Given the description of an element on the screen output the (x, y) to click on. 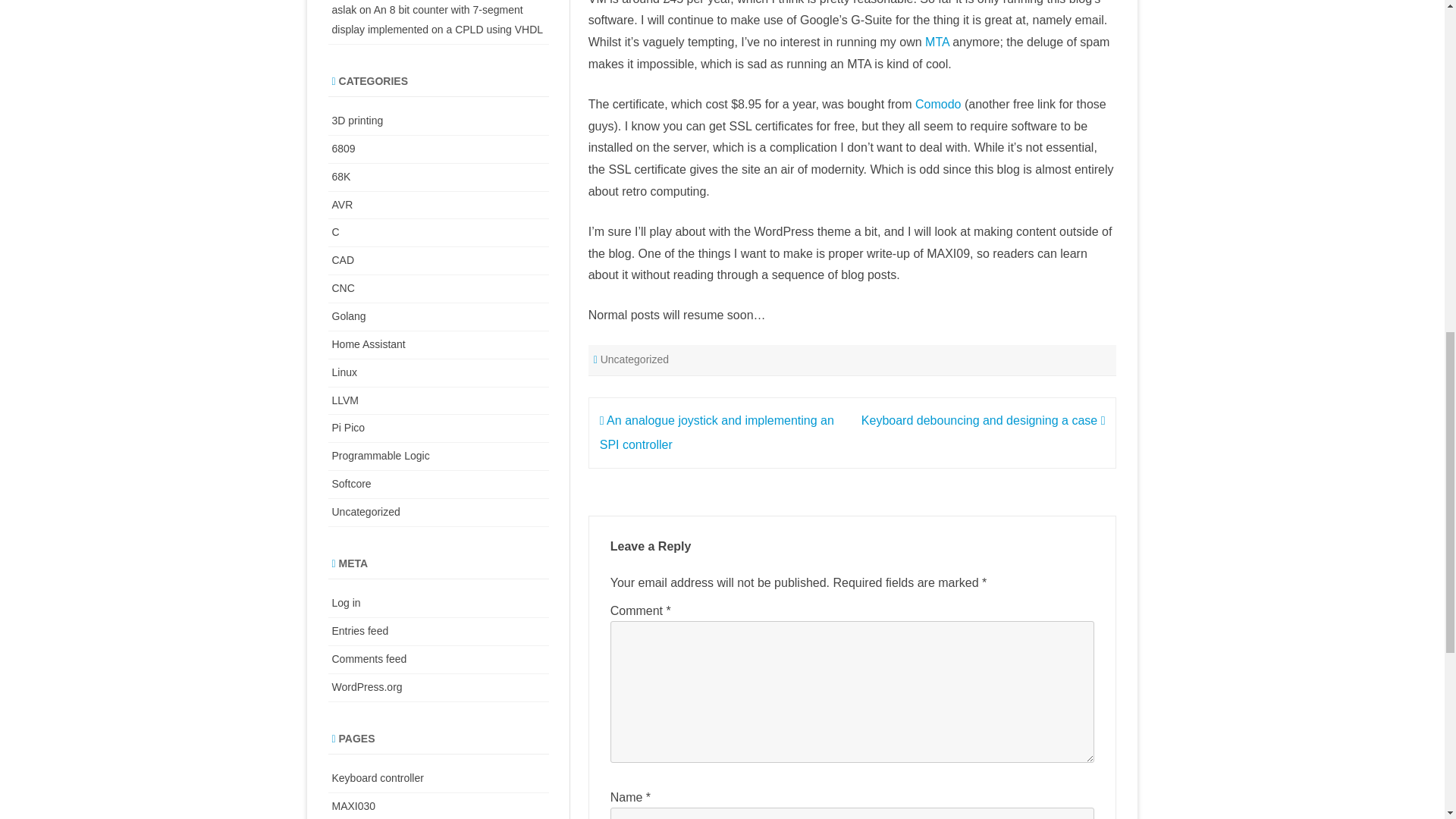
Uncategorized (633, 358)
Keyboard debouncing and designing a case (983, 420)
An analogue joystick and implementing an SPI controller (716, 432)
MTA (936, 42)
Comodo (937, 103)
